Given the description of an element on the screen output the (x, y) to click on. 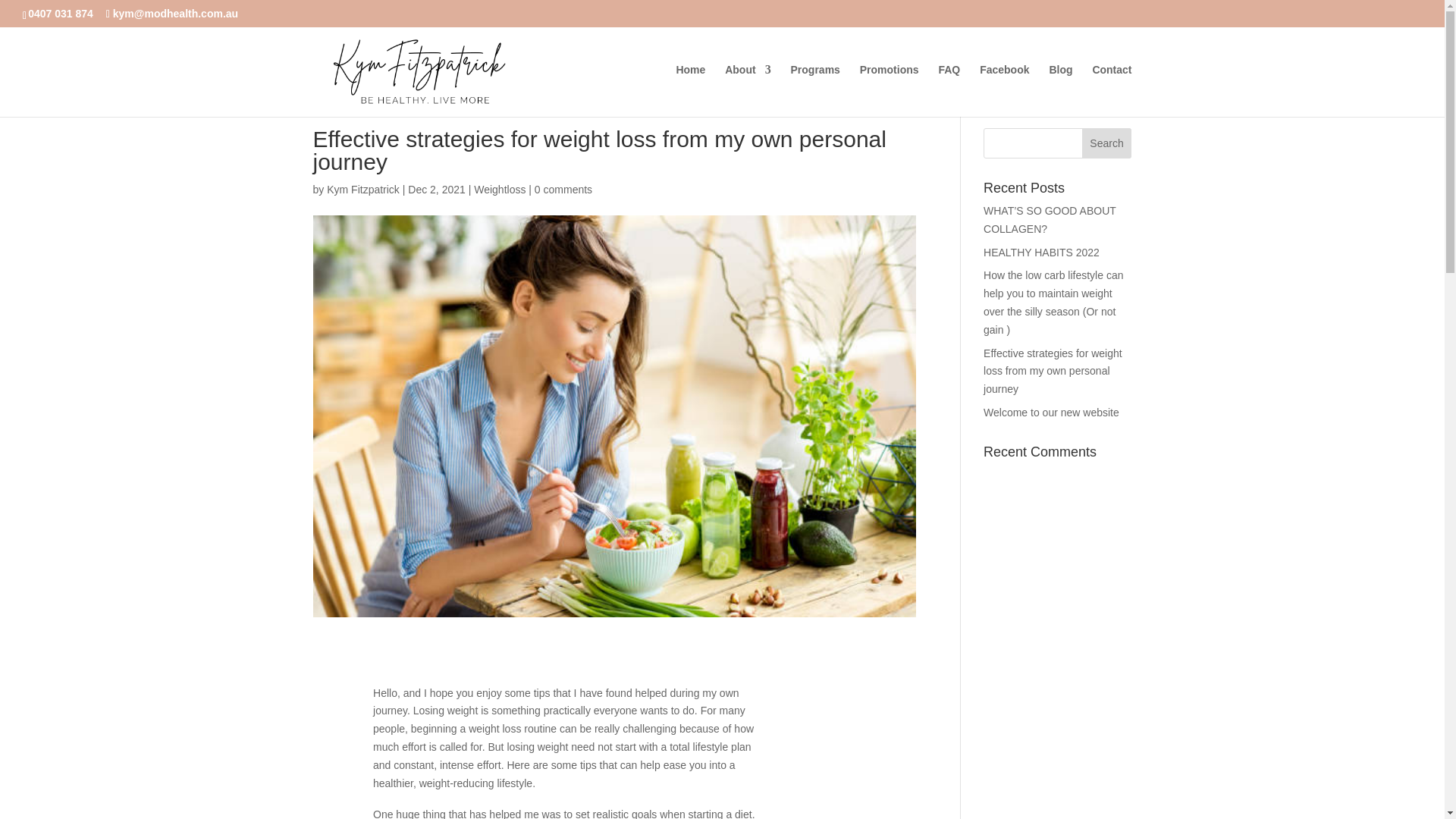
Promotions (889, 90)
Welcome to our new website (1051, 412)
Kym Fitzpatrick (362, 189)
HEALTHY HABITS 2022 (1041, 252)
Posts by Kym Fitzpatrick (362, 189)
0 comments (563, 189)
Programs (815, 90)
Search (1106, 142)
Weightloss (499, 189)
Facebook (1004, 90)
Search (1106, 142)
